Given the description of an element on the screen output the (x, y) to click on. 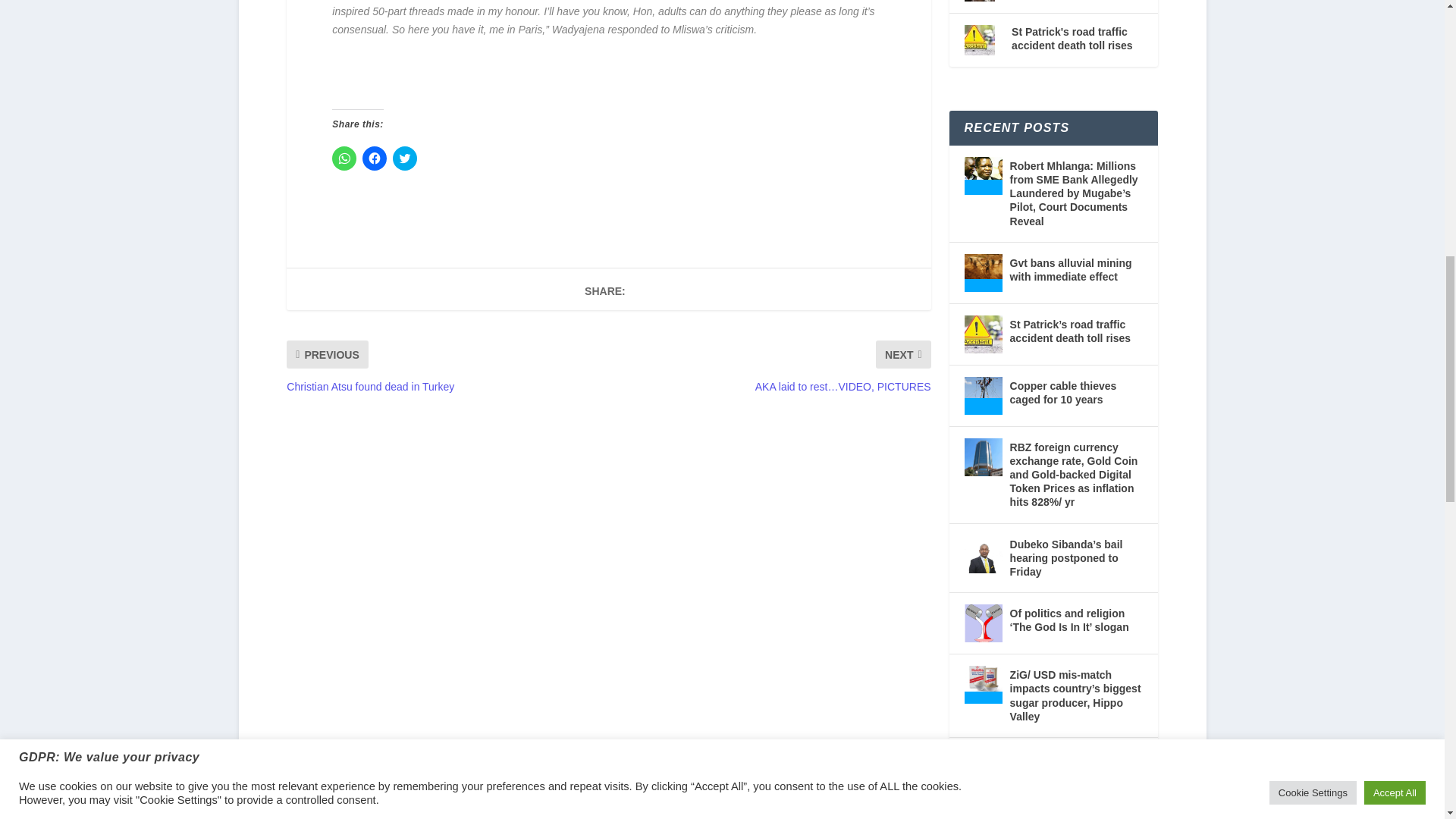
Click to share on Facebook (374, 158)
Click to share on Twitter (404, 158)
Click to share on WhatsApp (343, 158)
